Given the description of an element on the screen output the (x, y) to click on. 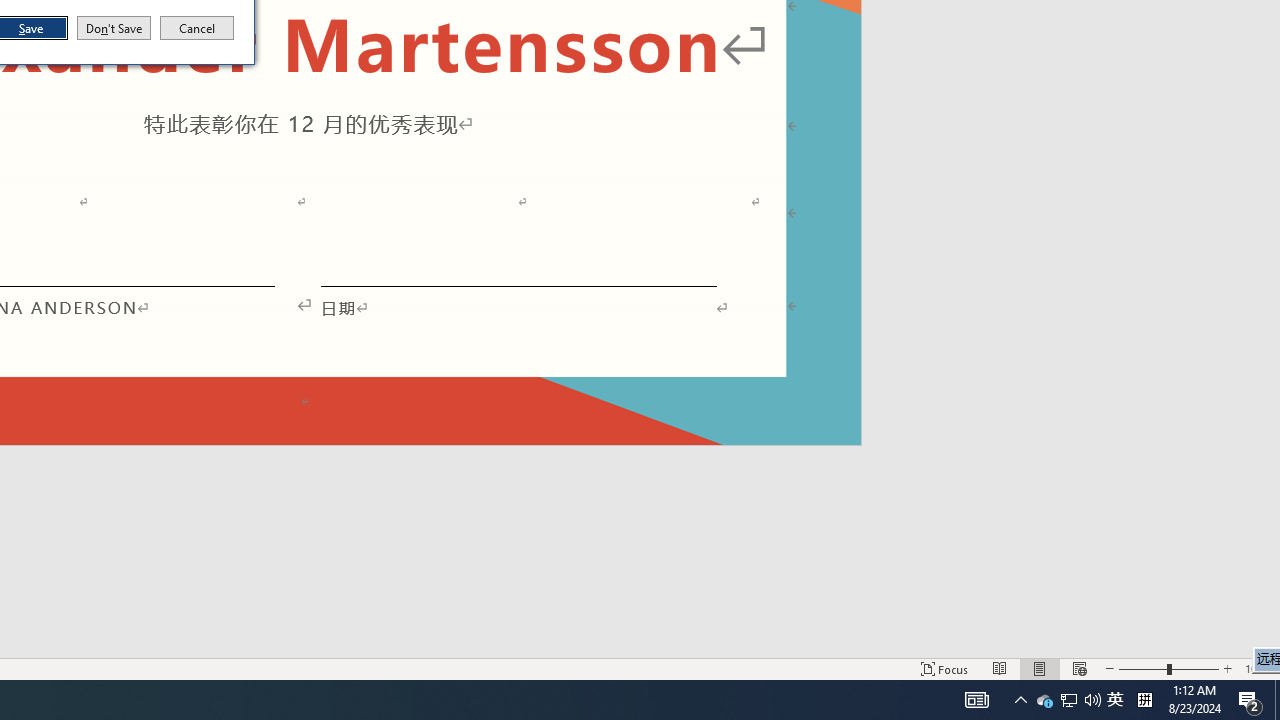
Action Center, 2 new notifications (1250, 699)
Focus  (944, 668)
AutomationID: 4105 (976, 699)
Zoom (1168, 668)
User Promoted Notification Area (1068, 699)
Zoom Out (1142, 668)
